Given the description of an element on the screen output the (x, y) to click on. 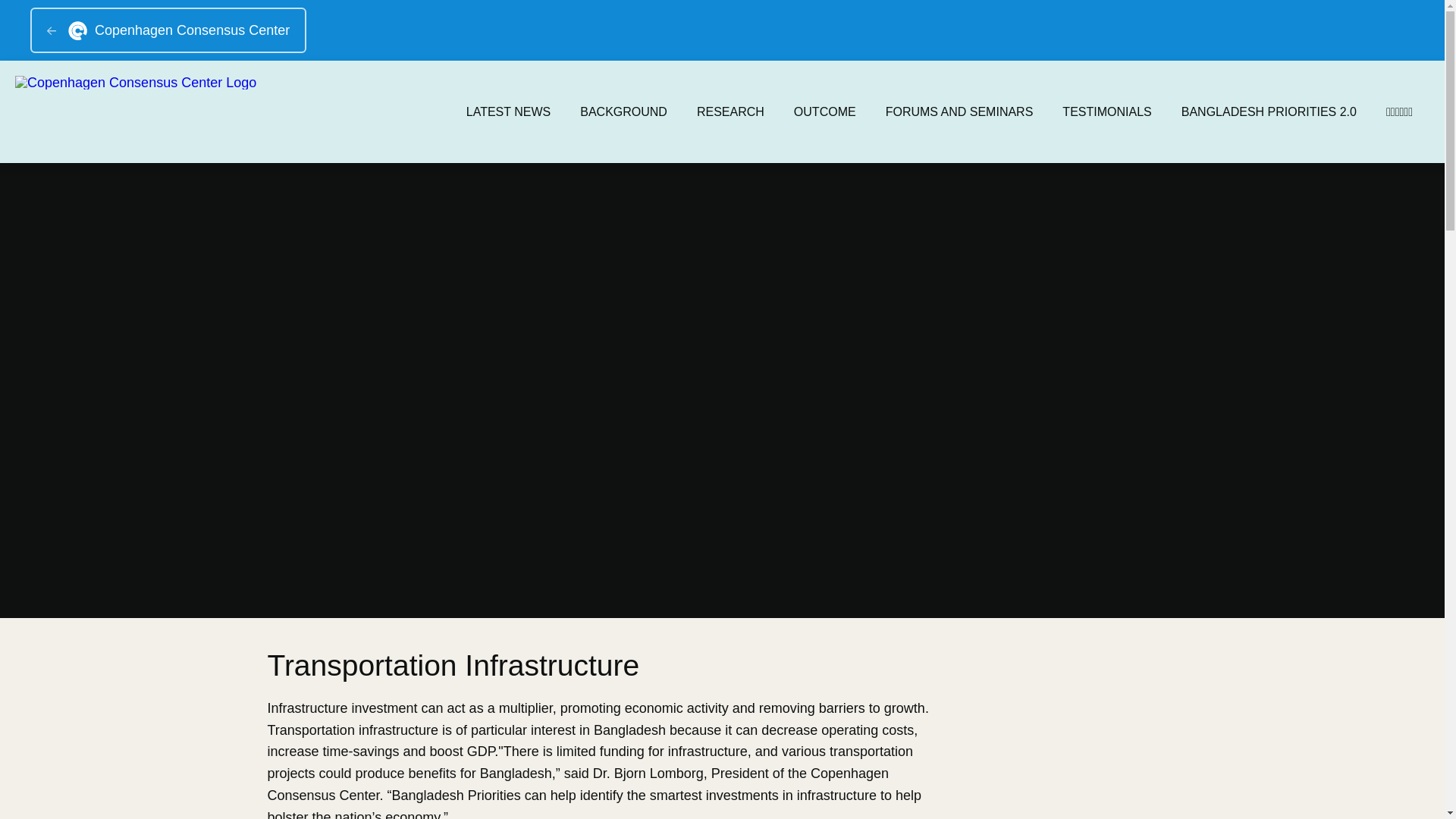
Copenhagen Consensus Center (167, 29)
RESEARCH (730, 112)
FORUMS AND SEMINARS (959, 112)
TESTIMONIALS (1106, 112)
BACKGROUND (623, 112)
LATEST NEWS (508, 112)
OUTCOME (824, 112)
BANGLADESH PRIORITIES 2.0 (1268, 112)
